Given the description of an element on the screen output the (x, y) to click on. 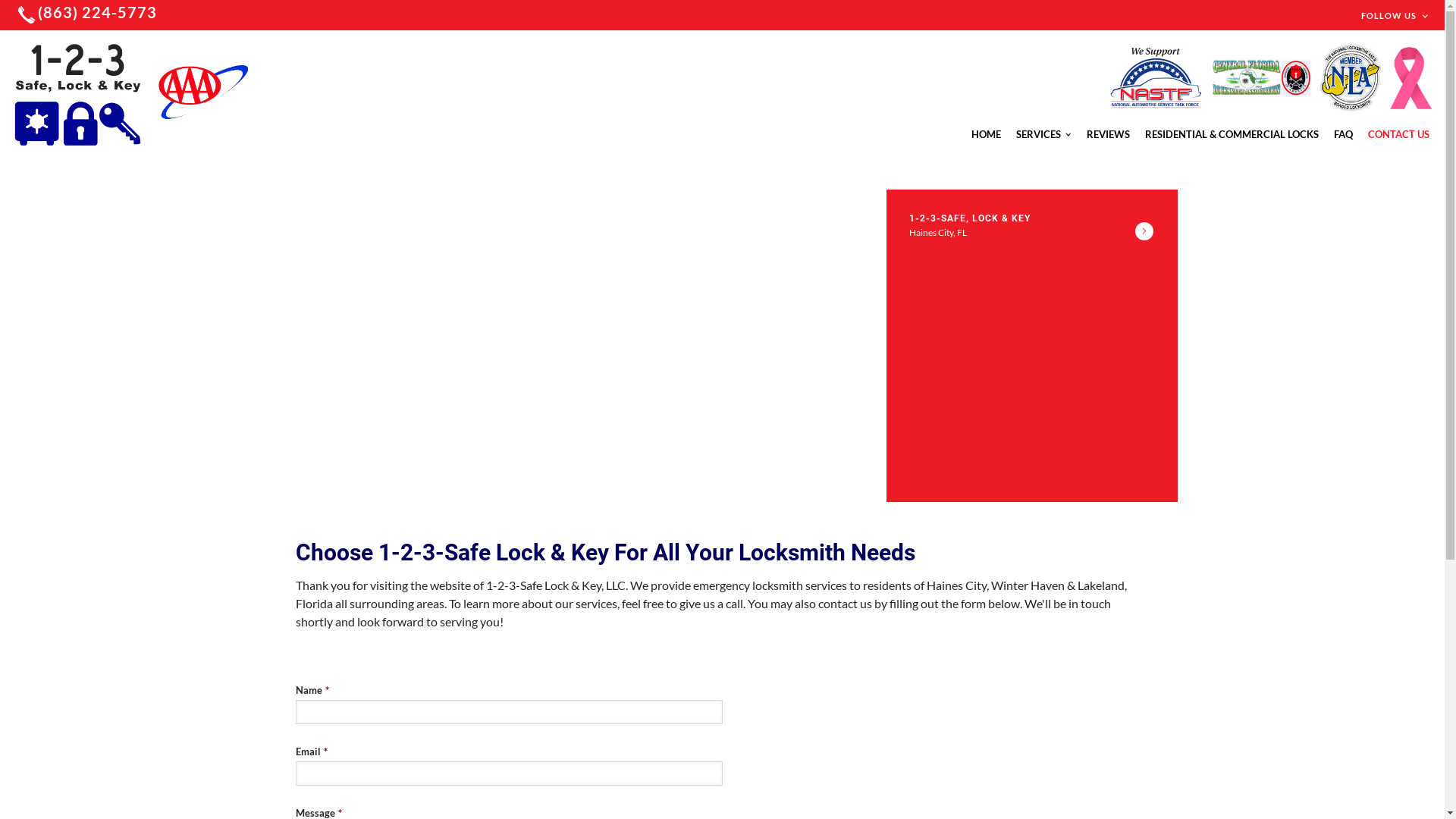
(863) 224-5773 Element type: hover (88, 15)
FAQ Element type: text (1342, 134)
CONTACT US Element type: text (1398, 134)
See Details Element type: hover (1143, 231)
RESIDENTIAL & COMMERCIAL LOCKS Element type: text (1231, 134)
HOME Element type: text (986, 134)
REVIEWS Element type: text (1107, 134)
